Given the description of an element on the screen output the (x, y) to click on. 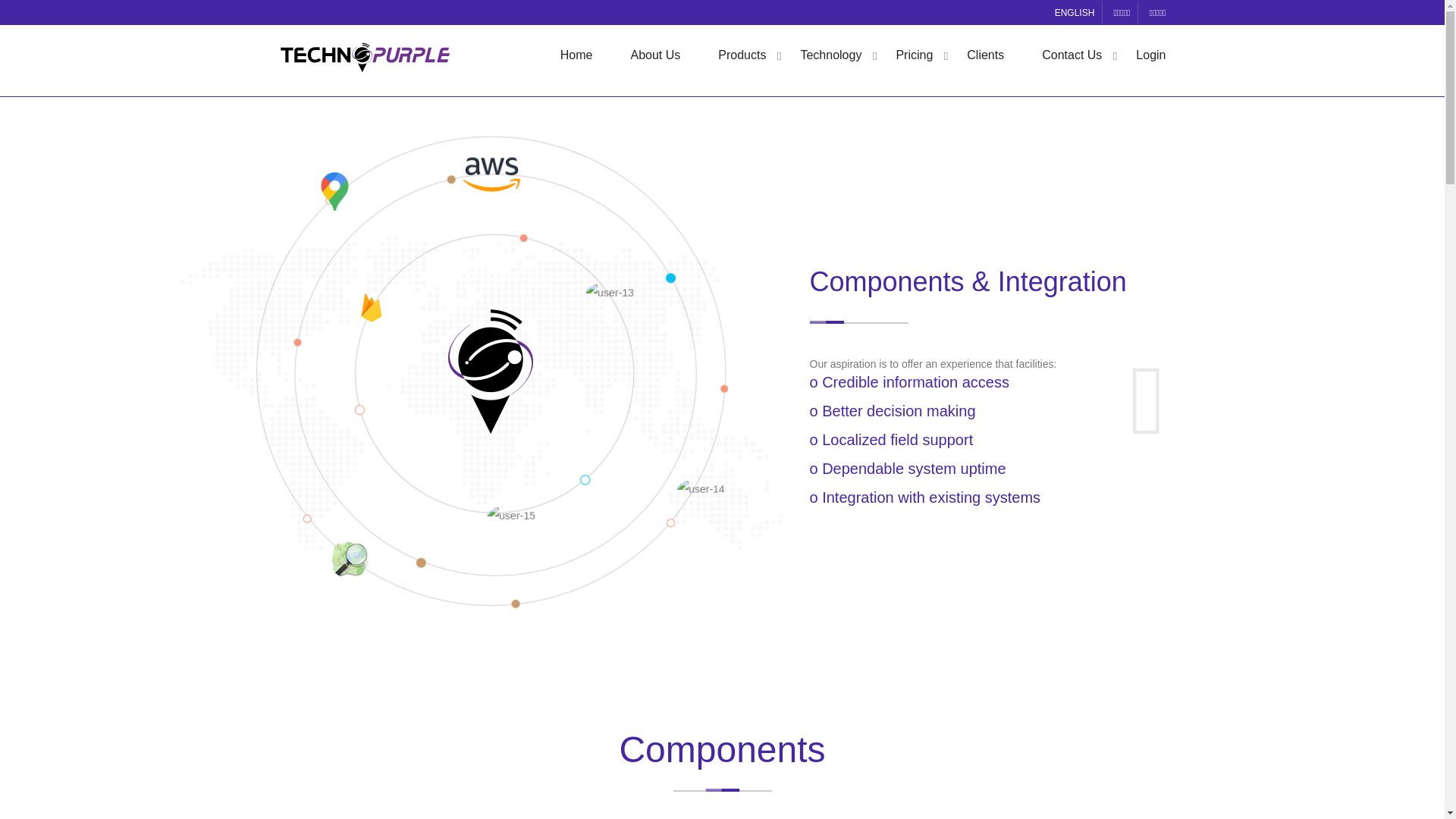
user-9 (334, 193)
Pricing (914, 55)
Home (576, 55)
Contact Us (1072, 55)
About Us (654, 55)
Login (1150, 55)
Technology (830, 55)
user-11 (372, 310)
user-14 (702, 489)
user-15 (511, 515)
